Given the description of an element on the screen output the (x, y) to click on. 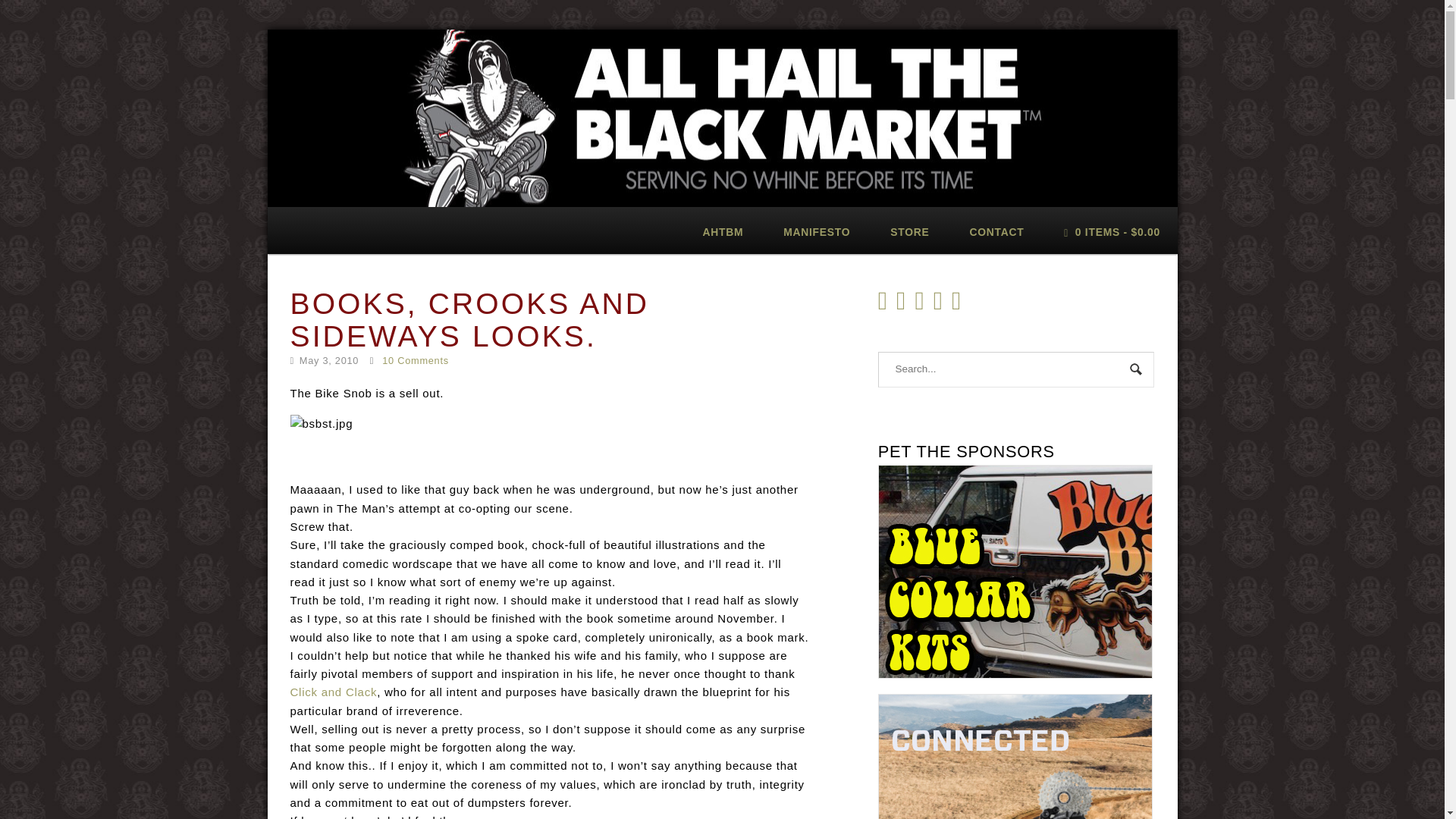
Search (1136, 370)
CONTACT (996, 230)
AHTBM (722, 230)
10 Comments (414, 360)
Click and Clack (333, 691)
MANIFESTO (817, 230)
View your shopping cart (1111, 230)
STORE (909, 230)
Search (1136, 370)
